Given the description of an element on the screen output the (x, y) to click on. 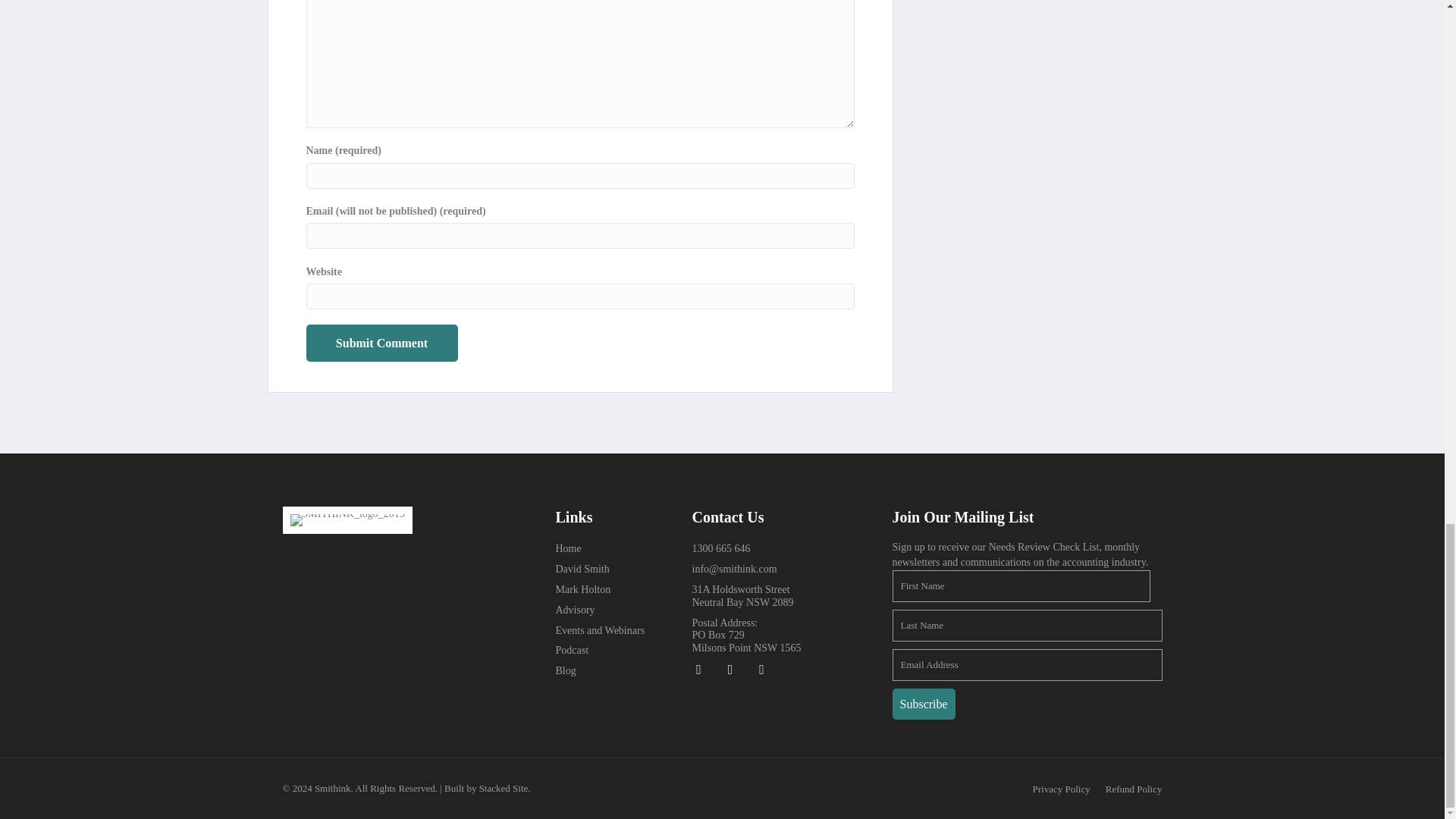
Subscribe (923, 703)
LinkedIn (729, 669)
Submit Comment (381, 342)
Submit Comment (381, 342)
